Given the description of an element on the screen output the (x, y) to click on. 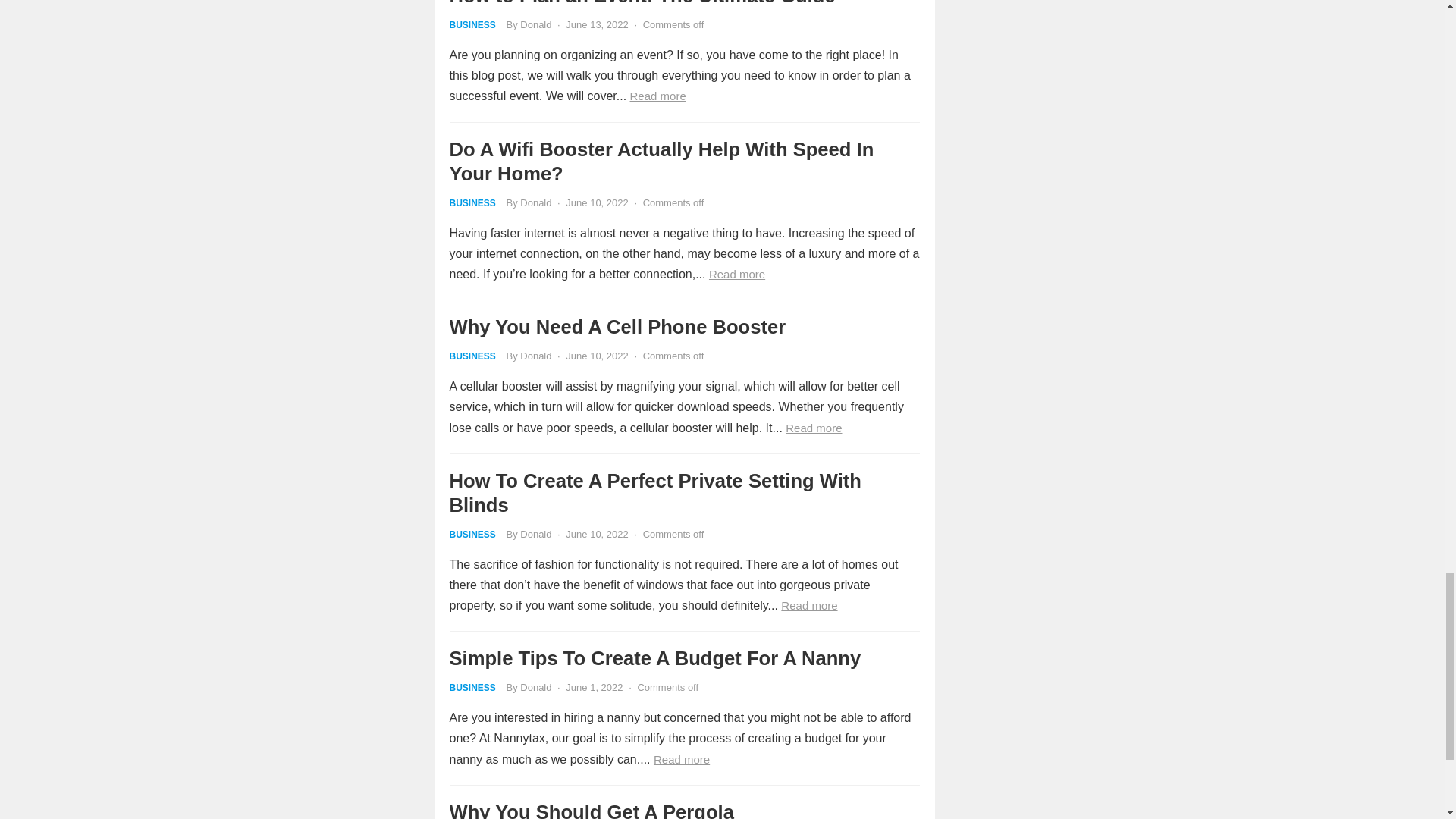
Posts by Donald (535, 533)
Posts by Donald (535, 202)
Posts by Donald (535, 24)
Posts by Donald (535, 355)
Posts by Donald (535, 686)
